Given the description of an element on the screen output the (x, y) to click on. 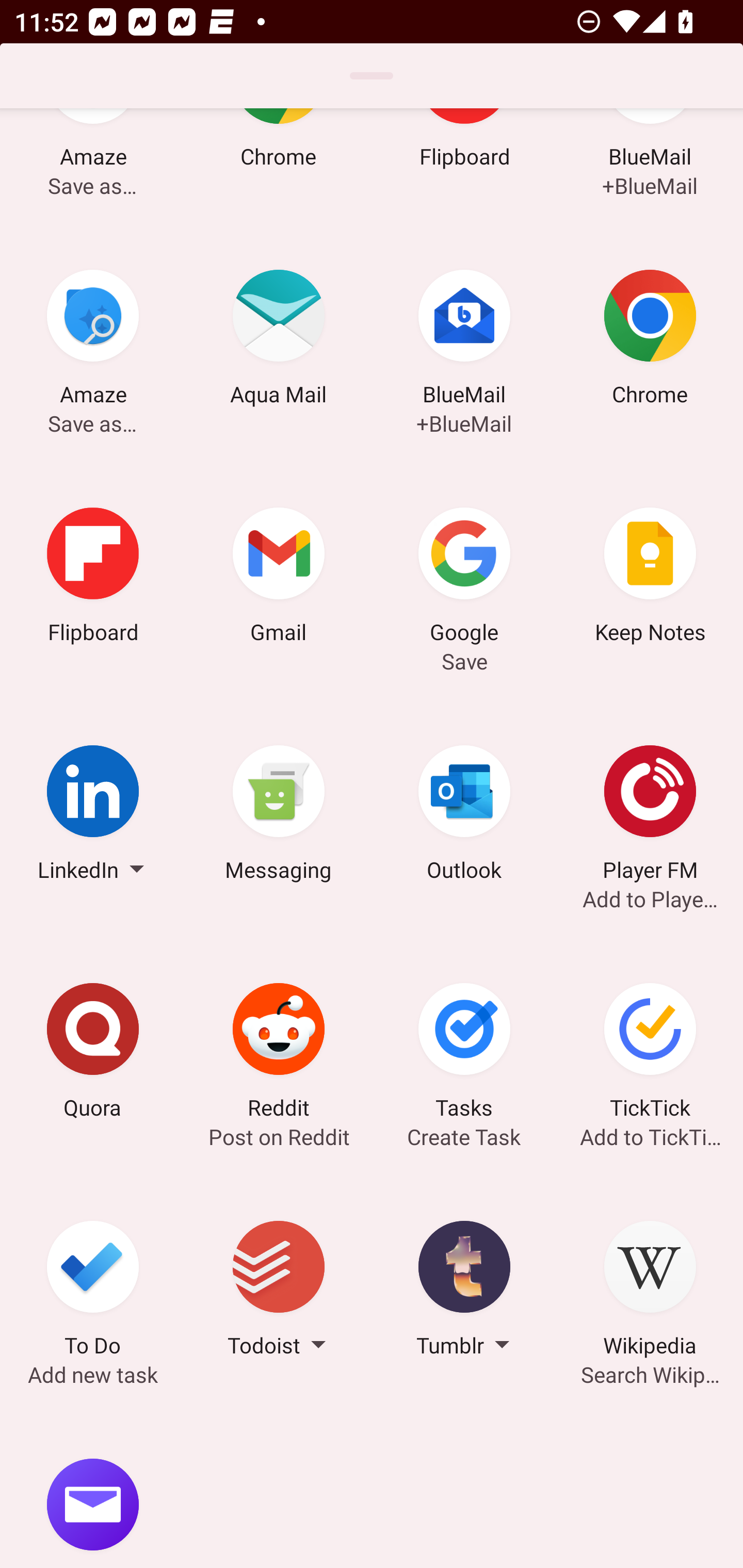
Amaze Save as… (92, 164)
Chrome (278, 164)
Flipboard (464, 164)
BlueMail +BlueMail (650, 164)
Amaze Save as… (92, 340)
Aqua Mail (278, 340)
BlueMail +BlueMail (464, 340)
Chrome (650, 340)
Flipboard (92, 578)
Gmail (278, 578)
Google Save (464, 578)
Keep Notes (650, 578)
LinkedIn (92, 815)
Messaging (278, 815)
Outlook (464, 815)
Player FM Add to Player FM (650, 815)
Quora (92, 1053)
Reddit Post on Reddit (278, 1053)
Tasks Create Task (464, 1053)
TickTick Add to TickTick (650, 1053)
To Do Add new task (92, 1291)
Todoist (278, 1291)
Tumblr (464, 1291)
Wikipedia Search Wikipedia (650, 1291)
